Given the description of an element on the screen output the (x, y) to click on. 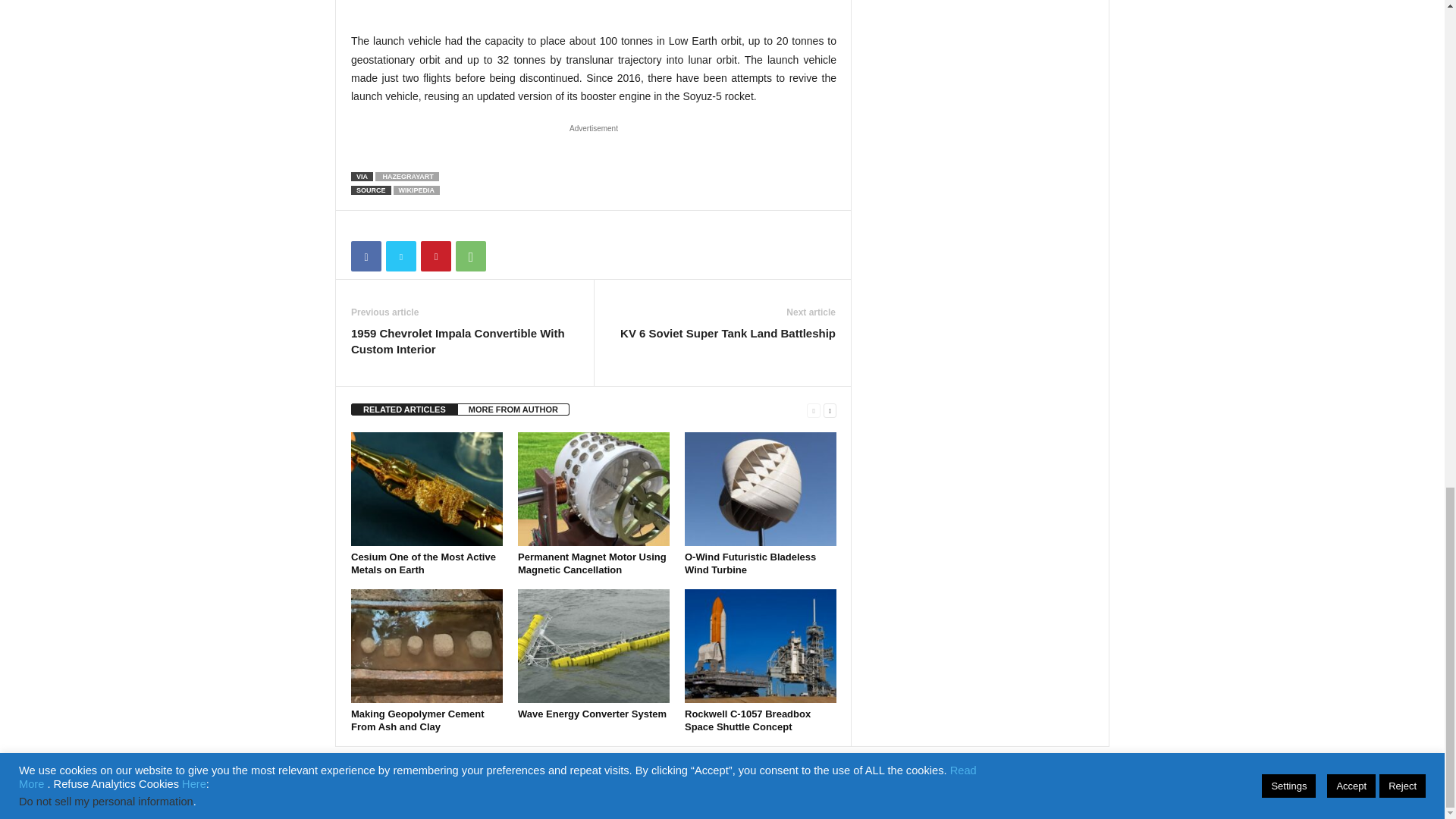
MORE FROM AUTHOR (513, 409)
KV 6 Soviet Super Tank Land Battleship (727, 333)
WIKIPEDIA (417, 189)
HAZEGRAYART (407, 175)
RELATED ARTICLES (404, 409)
Facebook (365, 255)
1959 Chevrolet Impala Convertible With Custom Interior (464, 341)
bottomFacebookLike (390, 226)
Twitter (400, 255)
